Given the description of an element on the screen output the (x, y) to click on. 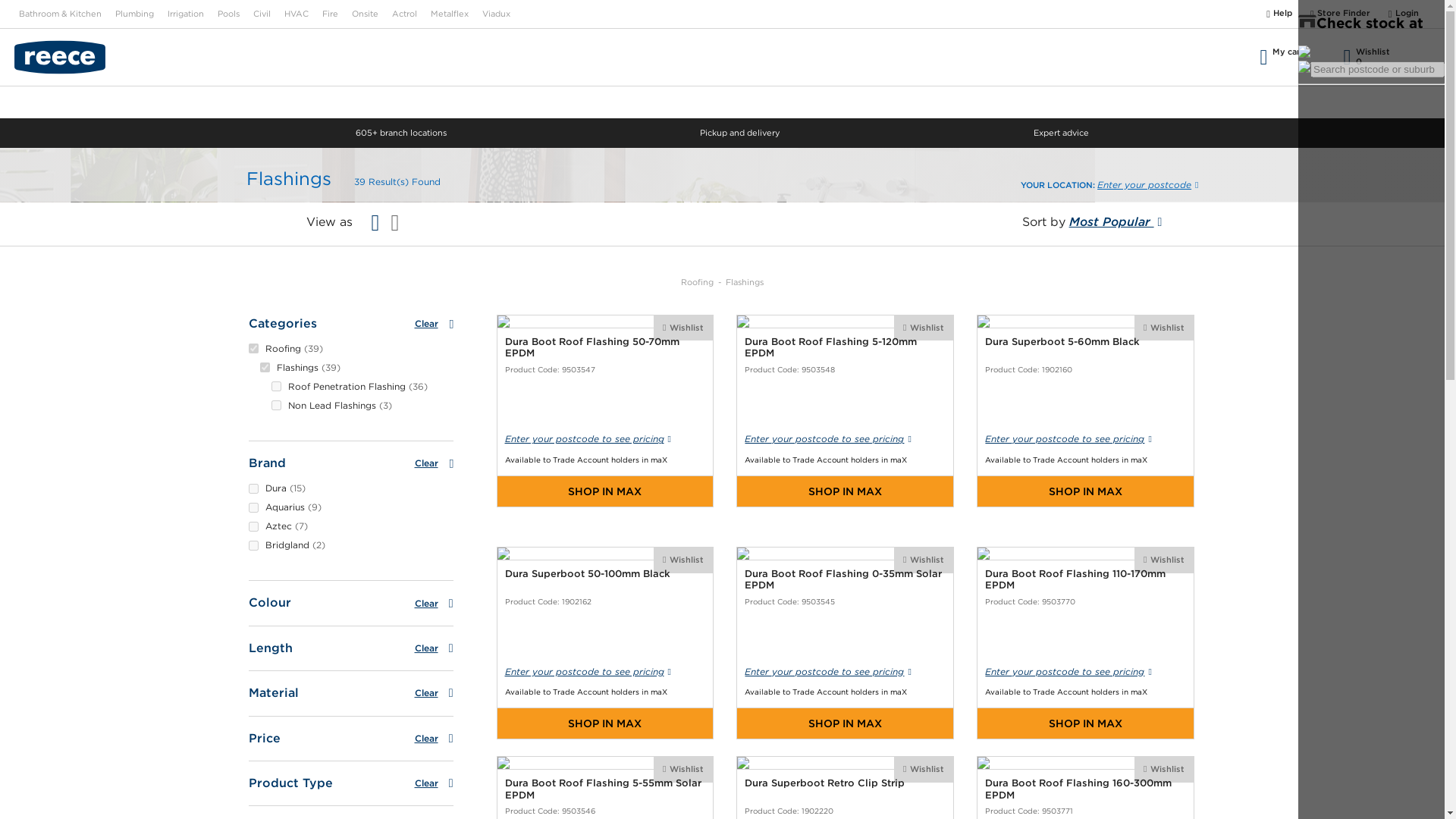
Enter your postcode (1147, 184)
on (253, 545)
Dura Boot Roof Flashing 5-55mm Solar     EPDM (604, 787)
Sort by Most Popular (1091, 222)
Dura Superboot Retro Clip Strip (844, 787)
on (264, 367)
Dura Boot Roof Flashing 0-35mm Solar     EPDM (844, 643)
on (1293, 56)
